Given the description of an element on the screen output the (x, y) to click on. 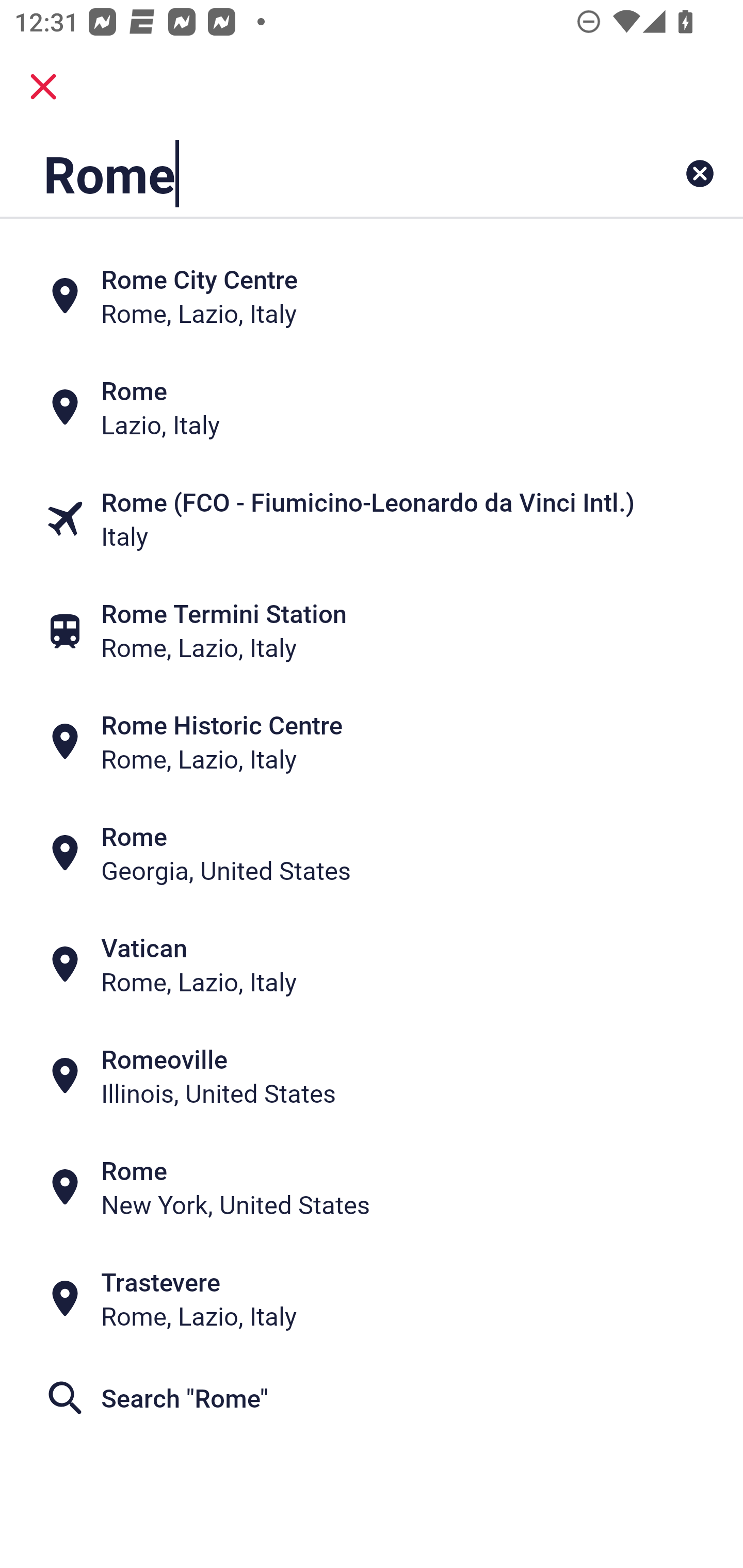
close. (43, 86)
Clear (699, 173)
Rome (306, 173)
Rome City Centre Rome, Lazio, Italy (371, 295)
Rome Lazio, Italy (371, 406)
Rome Termini Station Rome, Lazio, Italy (371, 629)
Rome Historic Centre Rome, Lazio, Italy (371, 742)
Rome Georgia, United States (371, 853)
Vatican Rome, Lazio, Italy (371, 964)
Romeoville Illinois, United States (371, 1076)
Rome New York, United States (371, 1187)
Trastevere Rome, Lazio, Italy (371, 1298)
Search "Rome" (371, 1397)
